Given the description of an element on the screen output the (x, y) to click on. 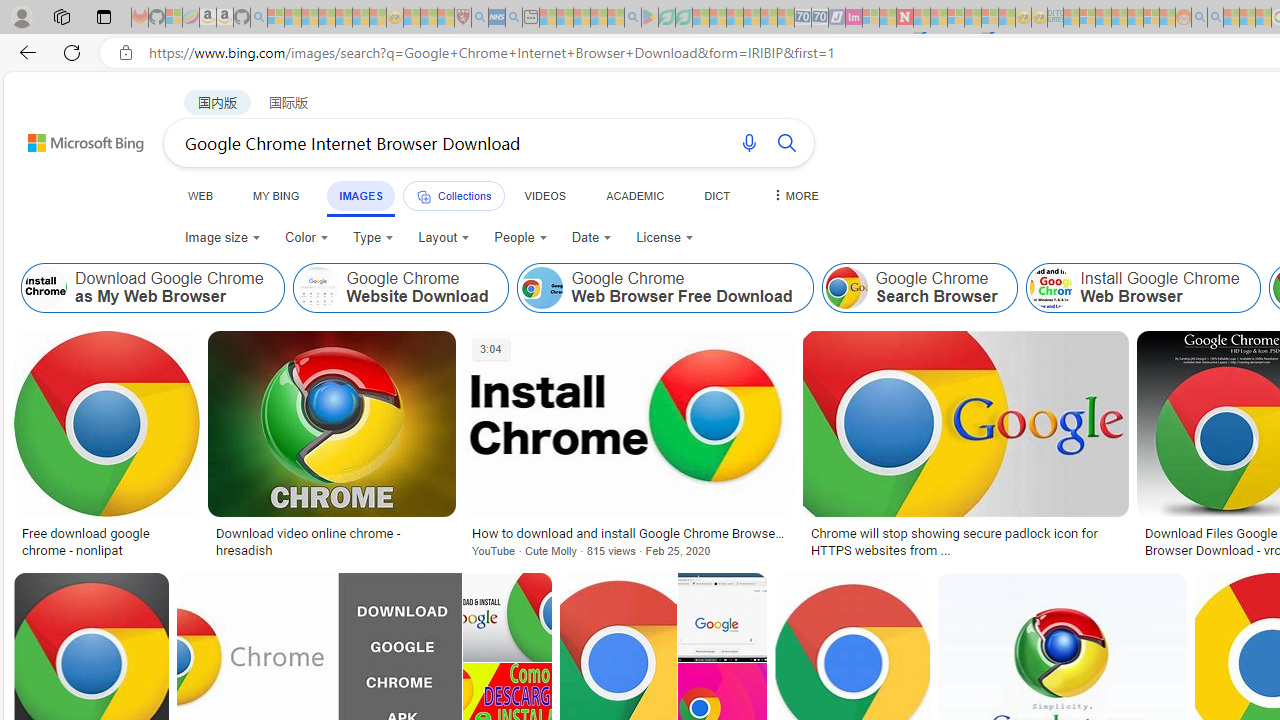
Image size (221, 237)
MY BING (276, 195)
Microsoft account | Privacy - Sleeping (1087, 17)
NCL Adult Asthma Inhaler Choice Guideline - Sleeping (497, 17)
Download Google Chrome as My Web Browser (152, 287)
Google Chrome Search Browser (919, 287)
Layout (443, 237)
VIDEOS (545, 195)
Google Chrome Web Browser Free Download (665, 287)
Trusted Community Engagement and Contributions | Guidelines (921, 17)
Latest Politics News & Archive | Newsweek.com - Sleeping (904, 17)
